Given the description of an element on the screen output the (x, y) to click on. 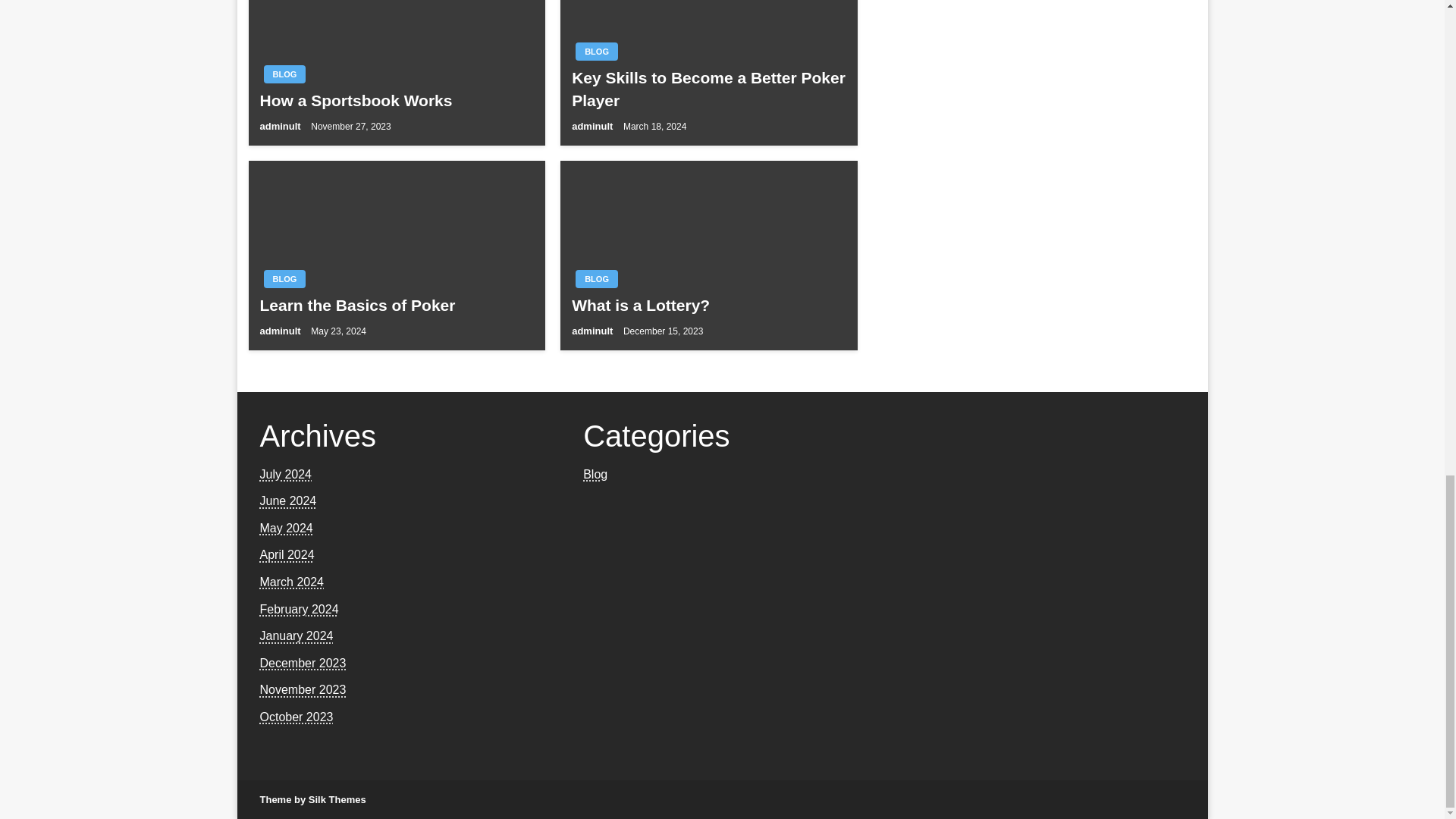
adminult (593, 303)
August 2024 (293, 446)
How to Stay Within Your Limits When Gambling on Slots (708, 266)
BLOG (596, 24)
adminult (280, 303)
adminult (593, 98)
SBOBET Review (396, 73)
adminult (280, 98)
Improving Your Poker Skills (396, 277)
BLOG (284, 46)
BLOG (596, 229)
BLOG (284, 251)
